Given the description of an element on the screen output the (x, y) to click on. 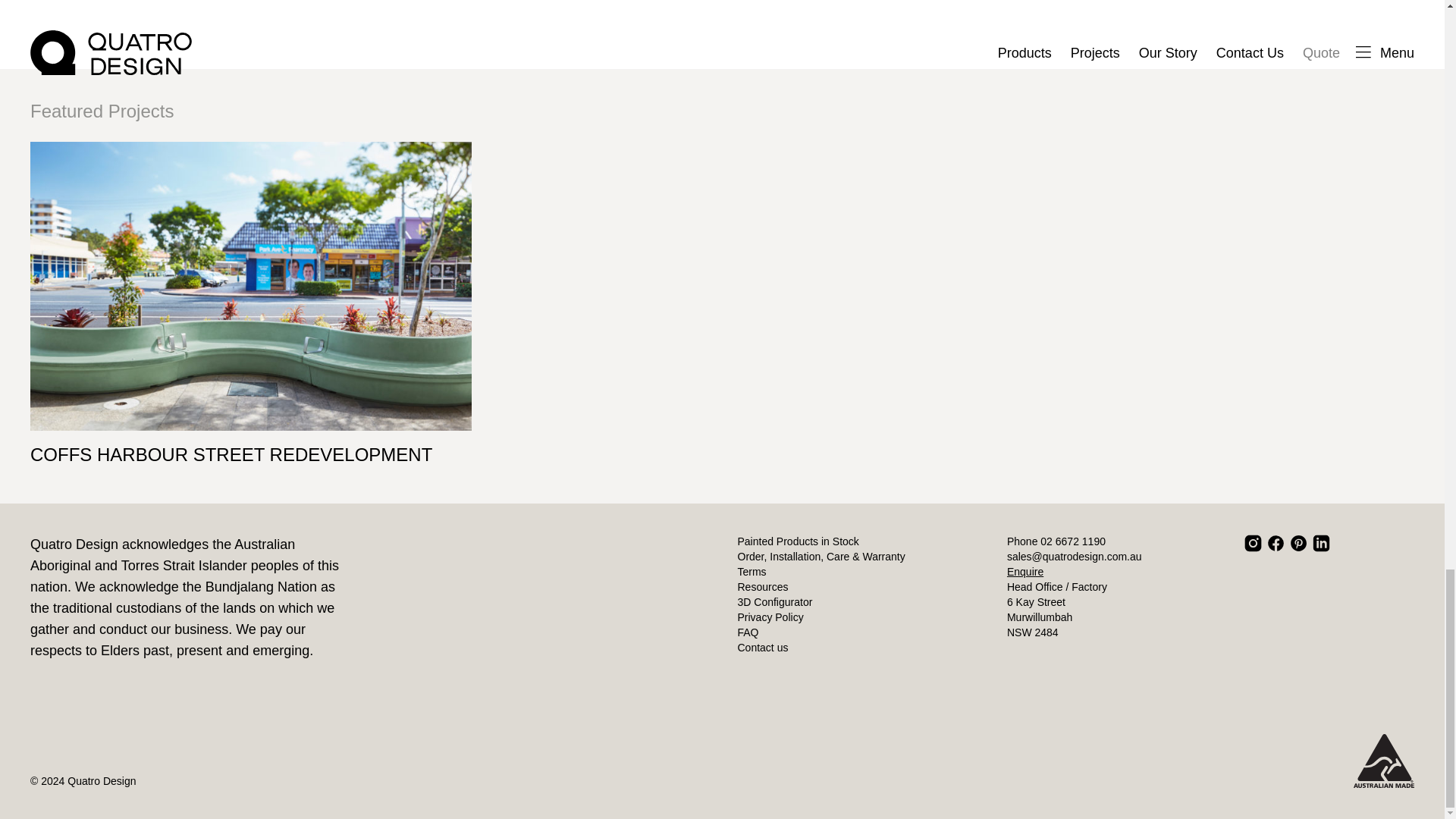
Resources (761, 586)
Pinterest (1297, 542)
FAQ (747, 632)
Enquire (1025, 571)
Terms (750, 571)
02 6672 1190 (1073, 541)
Instagram (1252, 542)
3D Configurator (774, 602)
LinkedIn (1320, 542)
Facebook (1275, 542)
Painted Products in Stock (797, 541)
Privacy Policy (769, 616)
Contact us (761, 647)
